Given the description of an element on the screen output the (x, y) to click on. 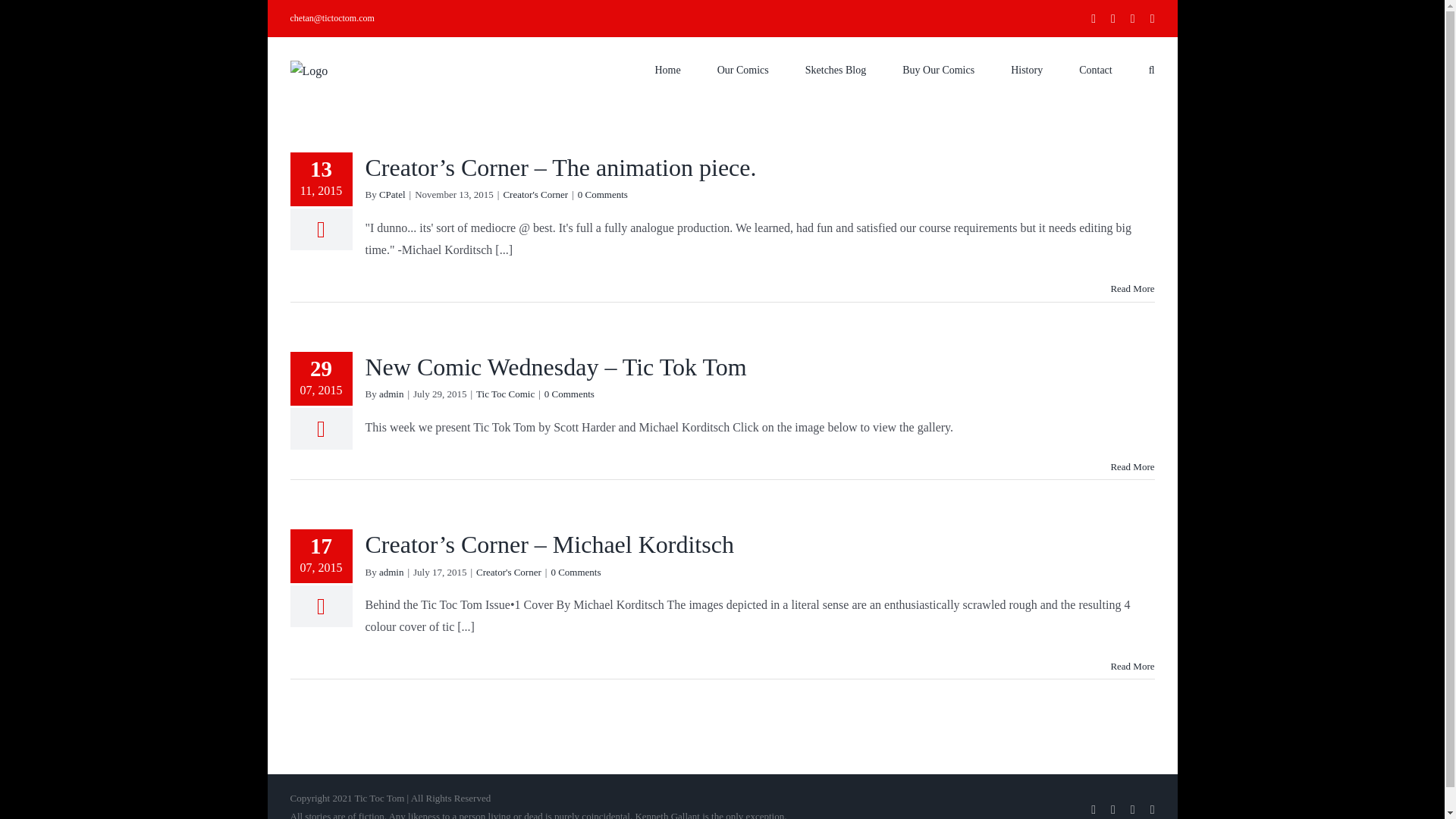
Read More (1131, 466)
0 Comments (602, 194)
admin (391, 572)
Posts by admin (391, 572)
Buy Our Comics (938, 68)
0 Comments (569, 393)
CPatel (392, 194)
0 Comments (574, 572)
admin (391, 393)
Read More (1131, 288)
